Given the description of an element on the screen output the (x, y) to click on. 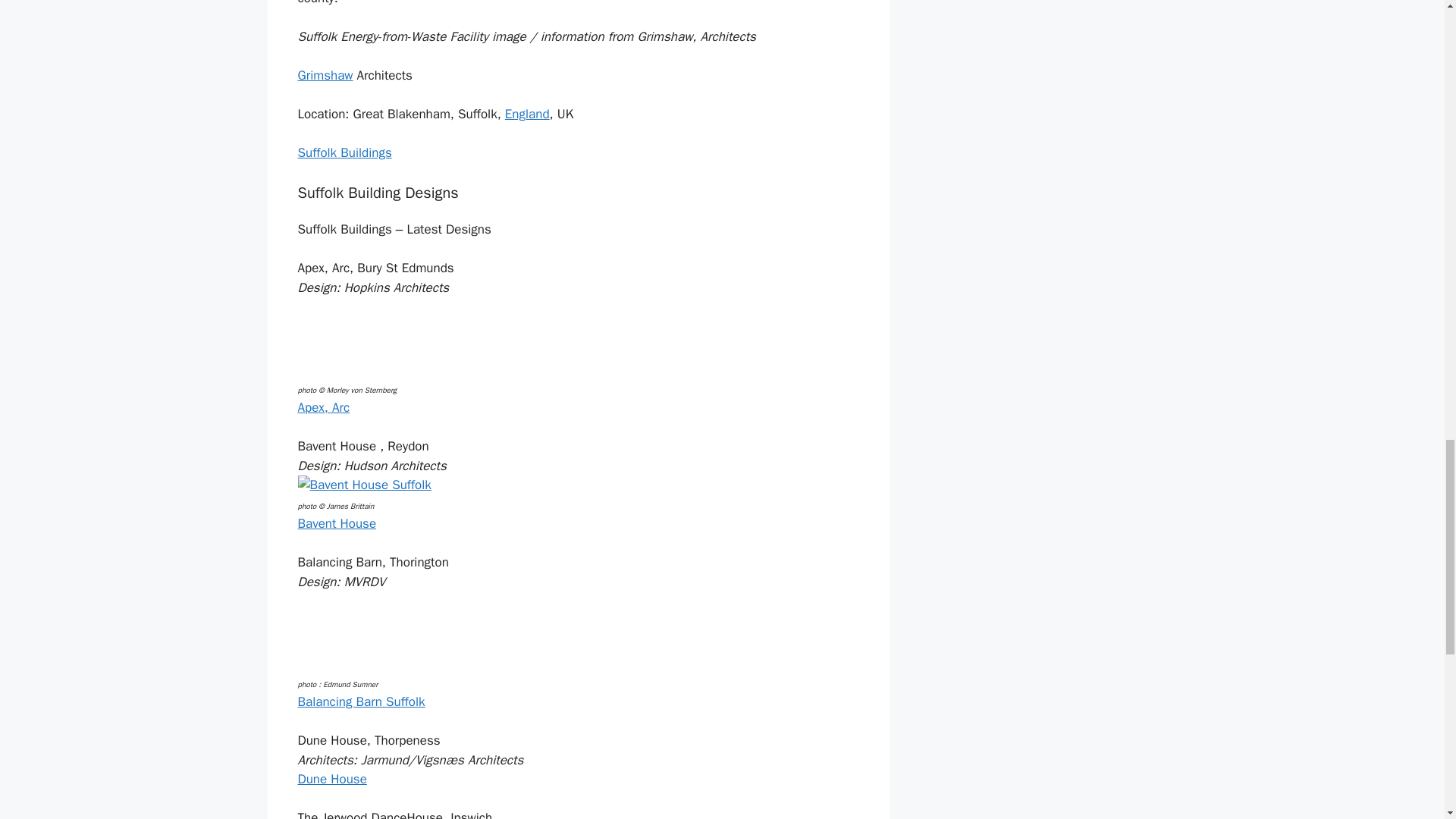
England (527, 114)
Grimshaw (324, 75)
Suffolk Buildings (344, 152)
Dune House (331, 779)
Apex, Arc (323, 407)
Bavent House (336, 523)
Balancing Barn Suffolk (361, 701)
